Given the description of an element on the screen output the (x, y) to click on. 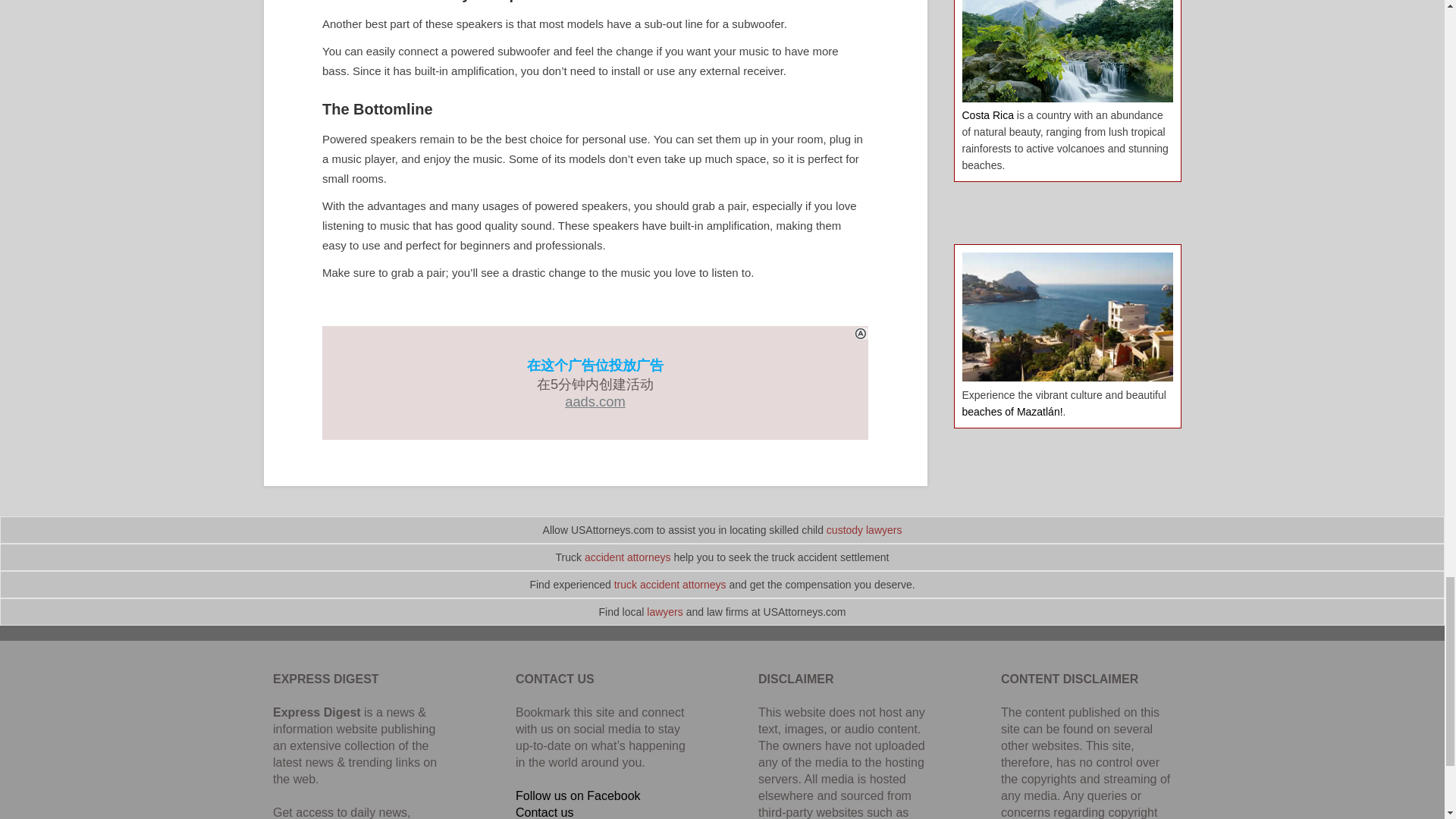
truck accident attorneys (670, 584)
accident attorneys (628, 557)
Costa Rica (986, 114)
custody lawyers (864, 530)
